Given the description of an element on the screen output the (x, y) to click on. 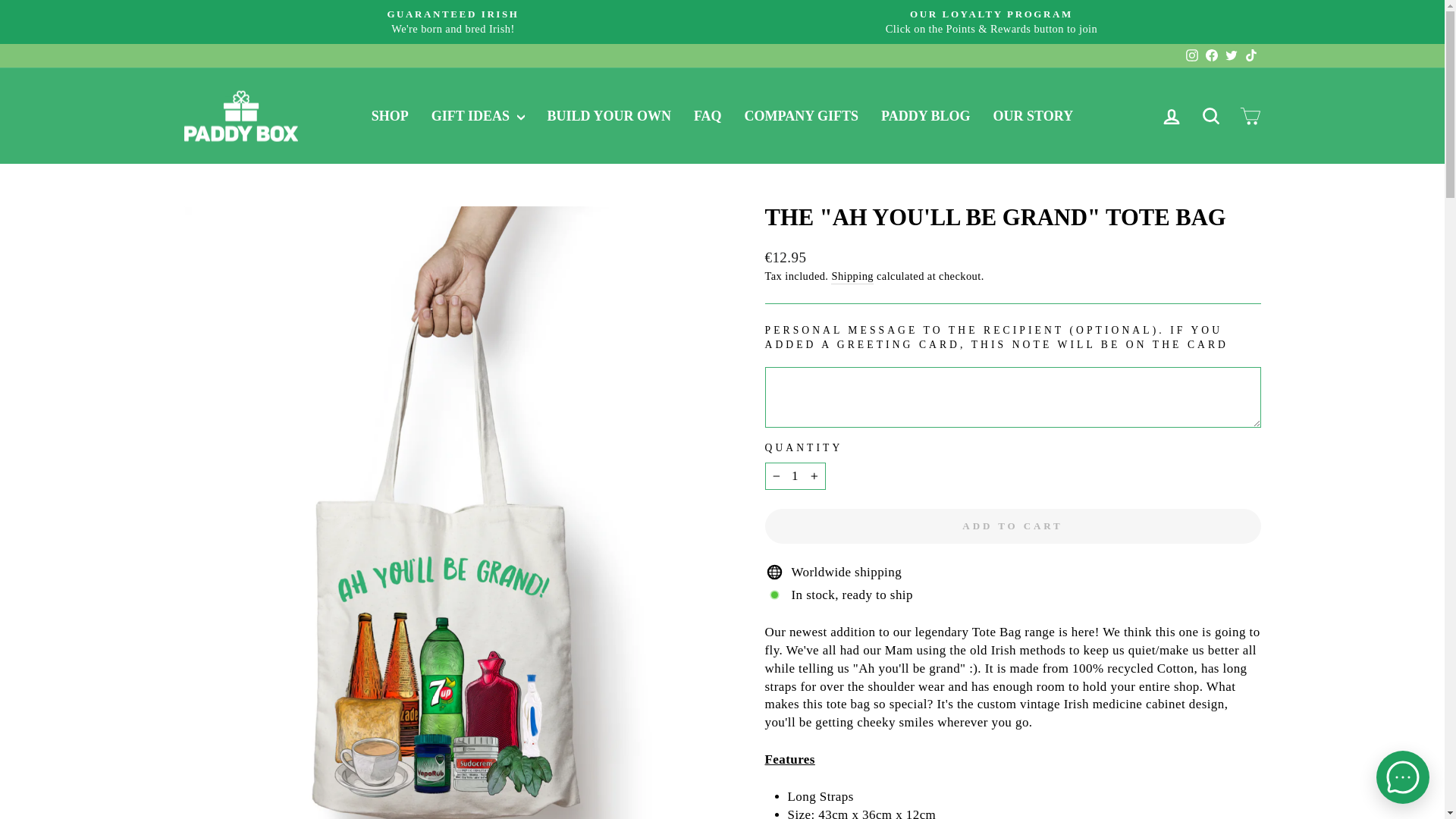
CART (1249, 115)
instagram (1192, 55)
PADDY BLOG (925, 115)
COMPANY GIFTS (801, 115)
1 (794, 475)
BUILD YOUR OWN (608, 115)
OUR STORY (1032, 115)
twitter (1231, 55)
SHOP (1210, 115)
